Given the description of an element on the screen output the (x, y) to click on. 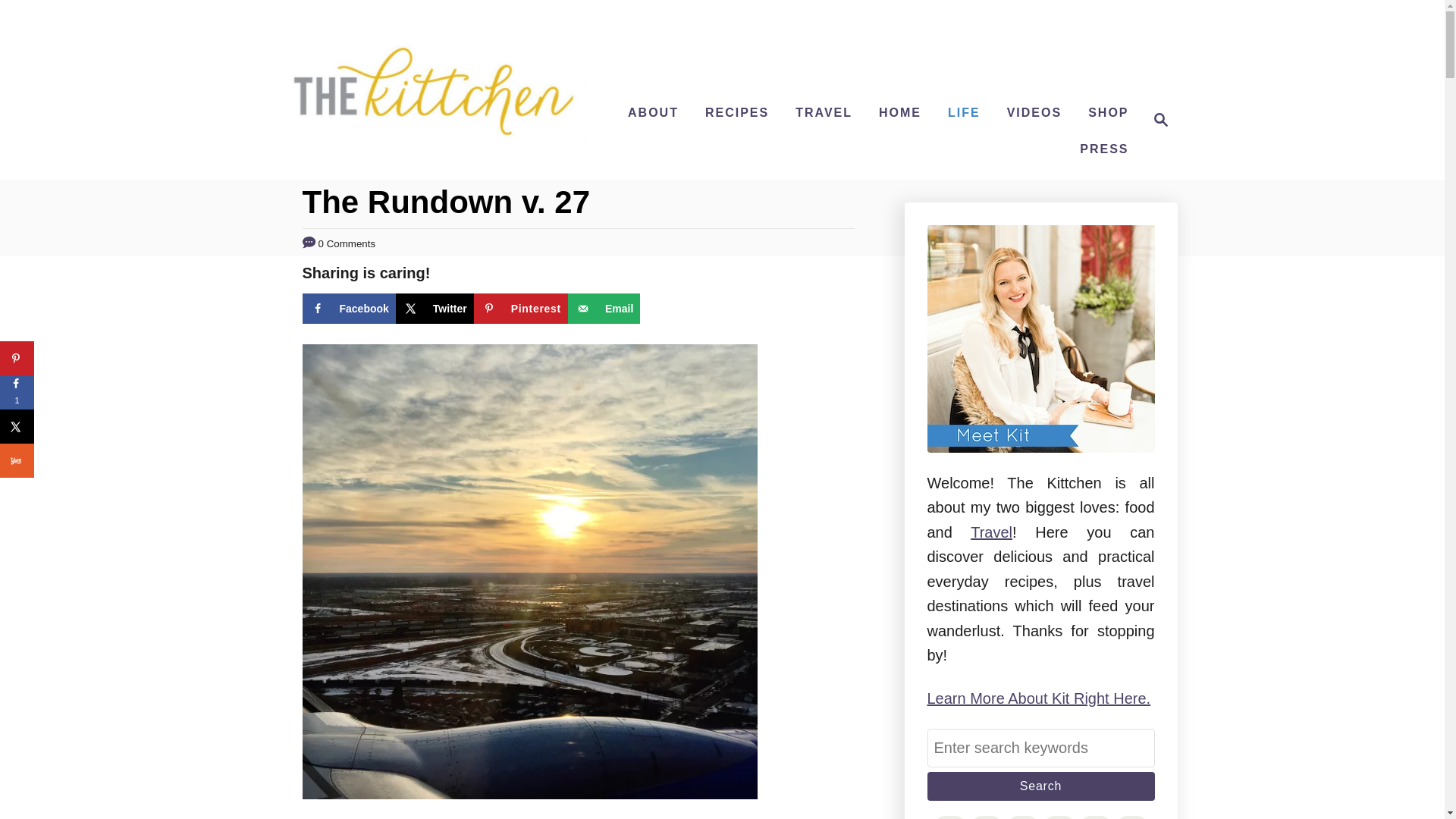
Search (1040, 786)
Send over email (603, 308)
TRAVEL (823, 112)
Facebook (347, 308)
Save to Pinterest (520, 308)
ABOUT (652, 112)
PRESS (1103, 149)
RECIPES (736, 112)
Twitter (435, 308)
LIFE (964, 112)
